Given the description of an element on the screen output the (x, y) to click on. 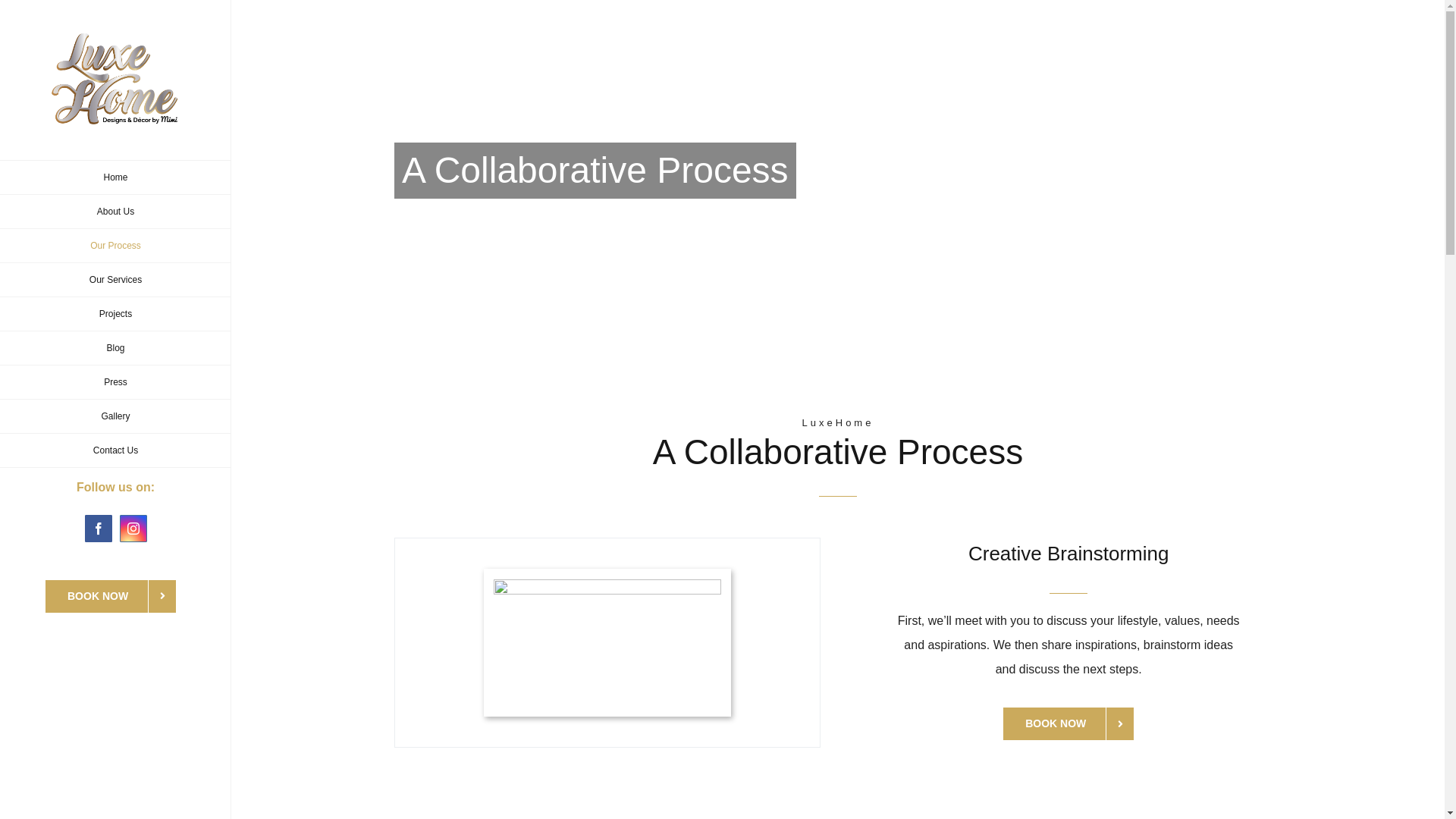
BOOK NOW Element type: text (110, 596)
Our Process Element type: text (115, 246)
Home Element type: text (1143, 170)
Blog Element type: text (115, 348)
Gallery Element type: text (115, 416)
Home Element type: text (115, 177)
Instagram Element type: text (133, 528)
Facebook Element type: text (98, 528)
About Us Element type: text (115, 211)
Contact Us Element type: text (115, 450)
Projects Element type: text (115, 314)
BOOK NOW Element type: text (1068, 723)
Our Services Element type: text (115, 280)
Press Element type: text (115, 382)
